Given the description of an element on the screen output the (x, y) to click on. 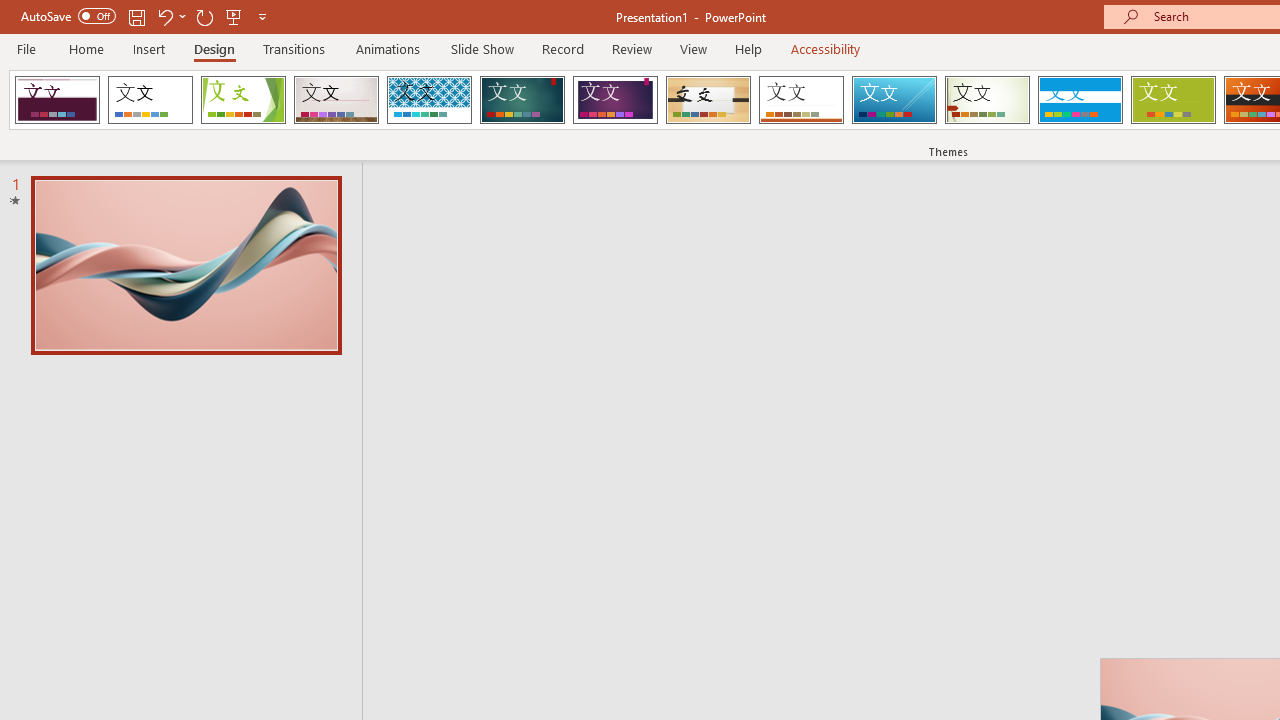
Ion (522, 100)
Gallery (336, 100)
Wisp (987, 100)
